Given the description of an element on the screen output the (x, y) to click on. 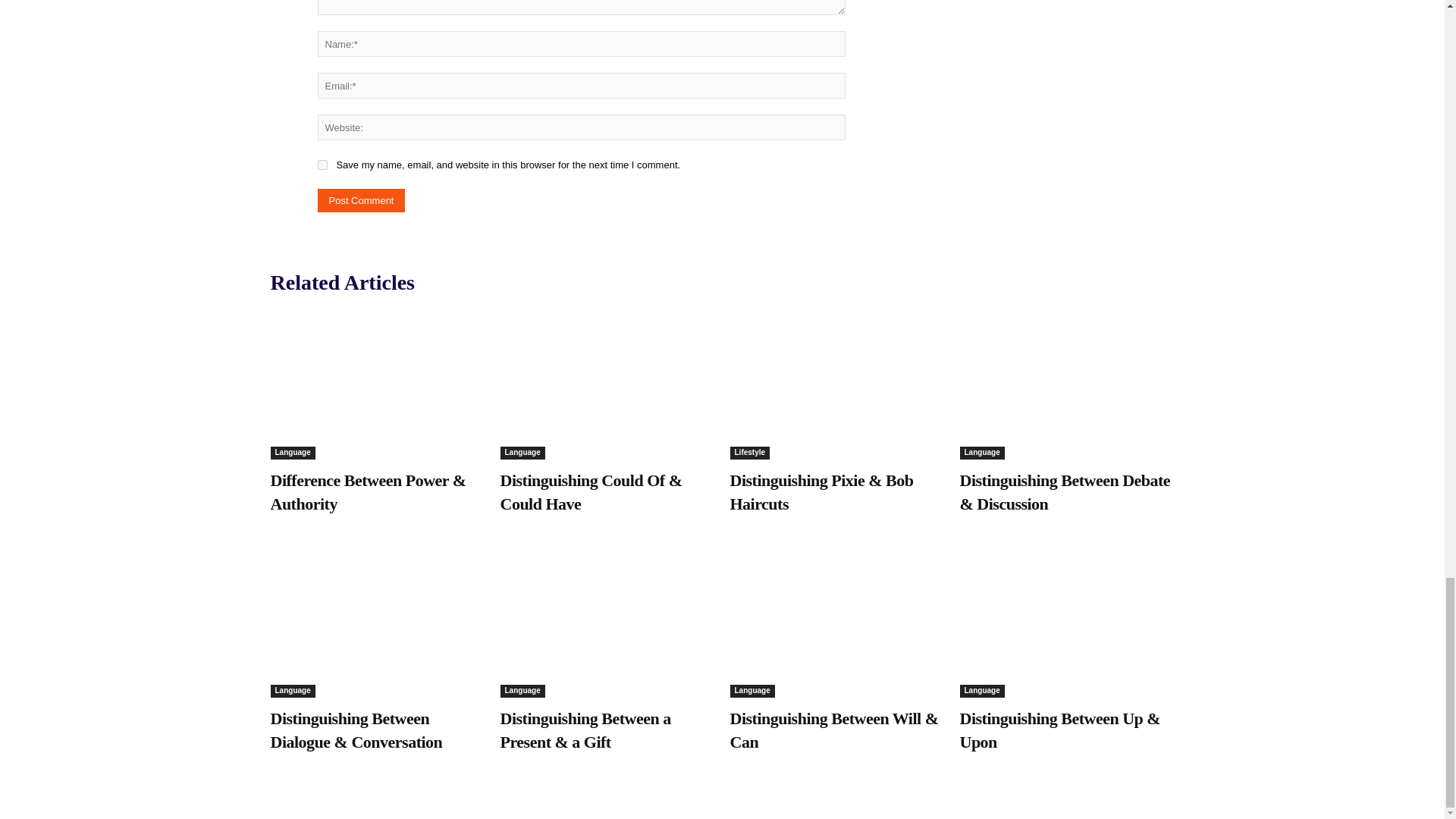
yes (321, 164)
Post Comment (360, 200)
